Given the description of an element on the screen output the (x, y) to click on. 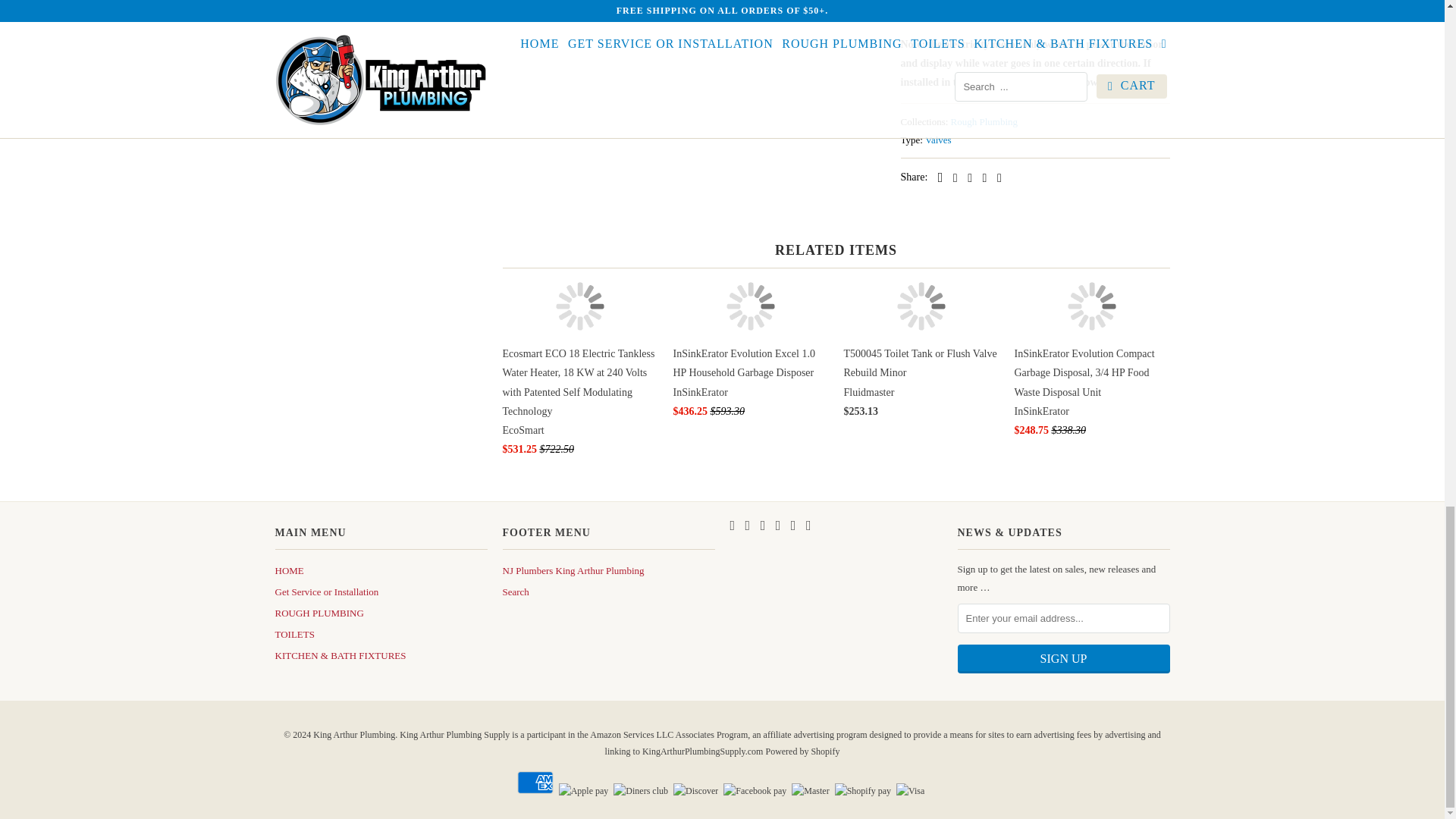
Sign Up (1062, 658)
